Given the description of an element on the screen output the (x, y) to click on. 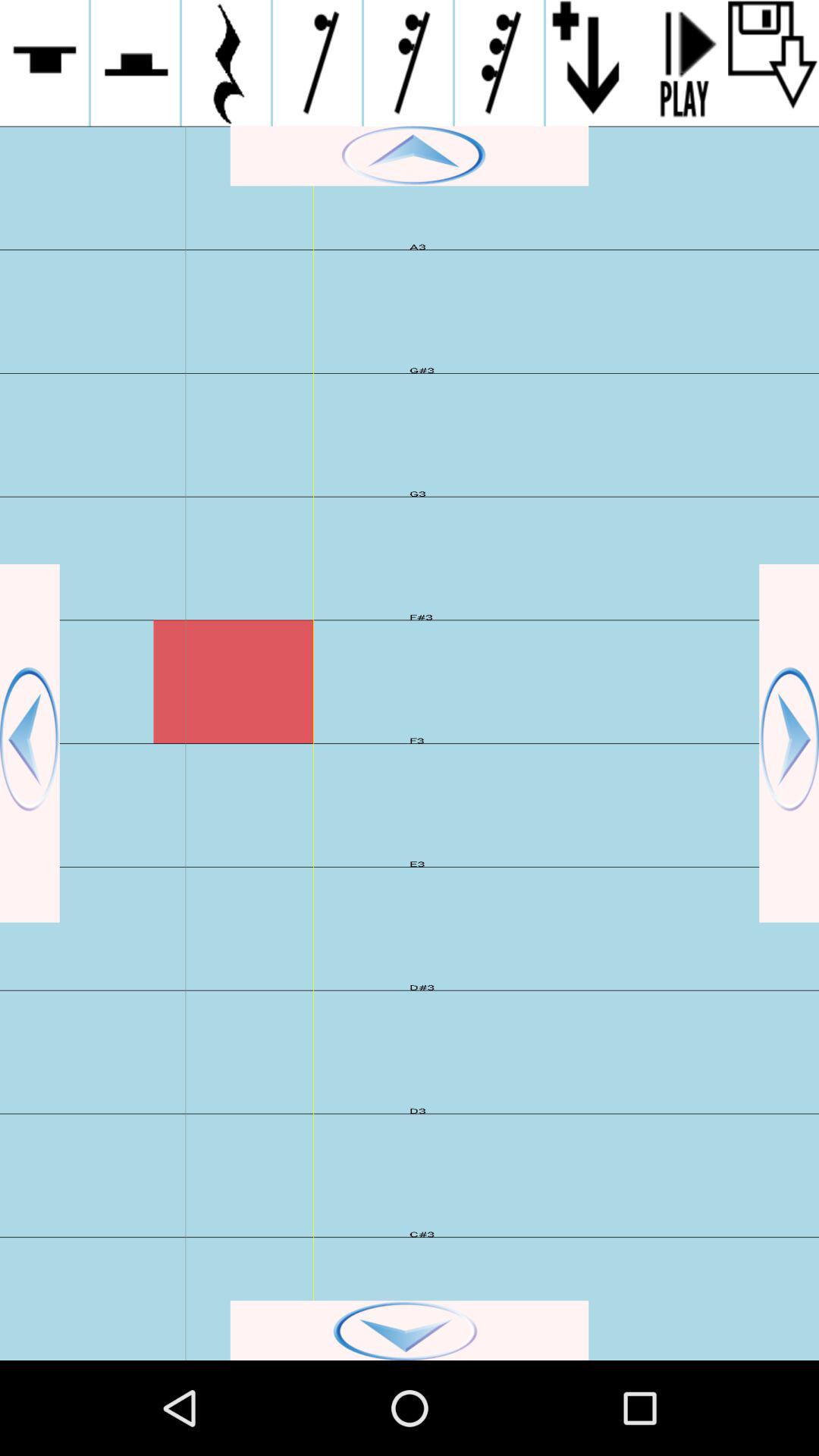
go down (409, 1330)
